Given the description of an element on the screen output the (x, y) to click on. 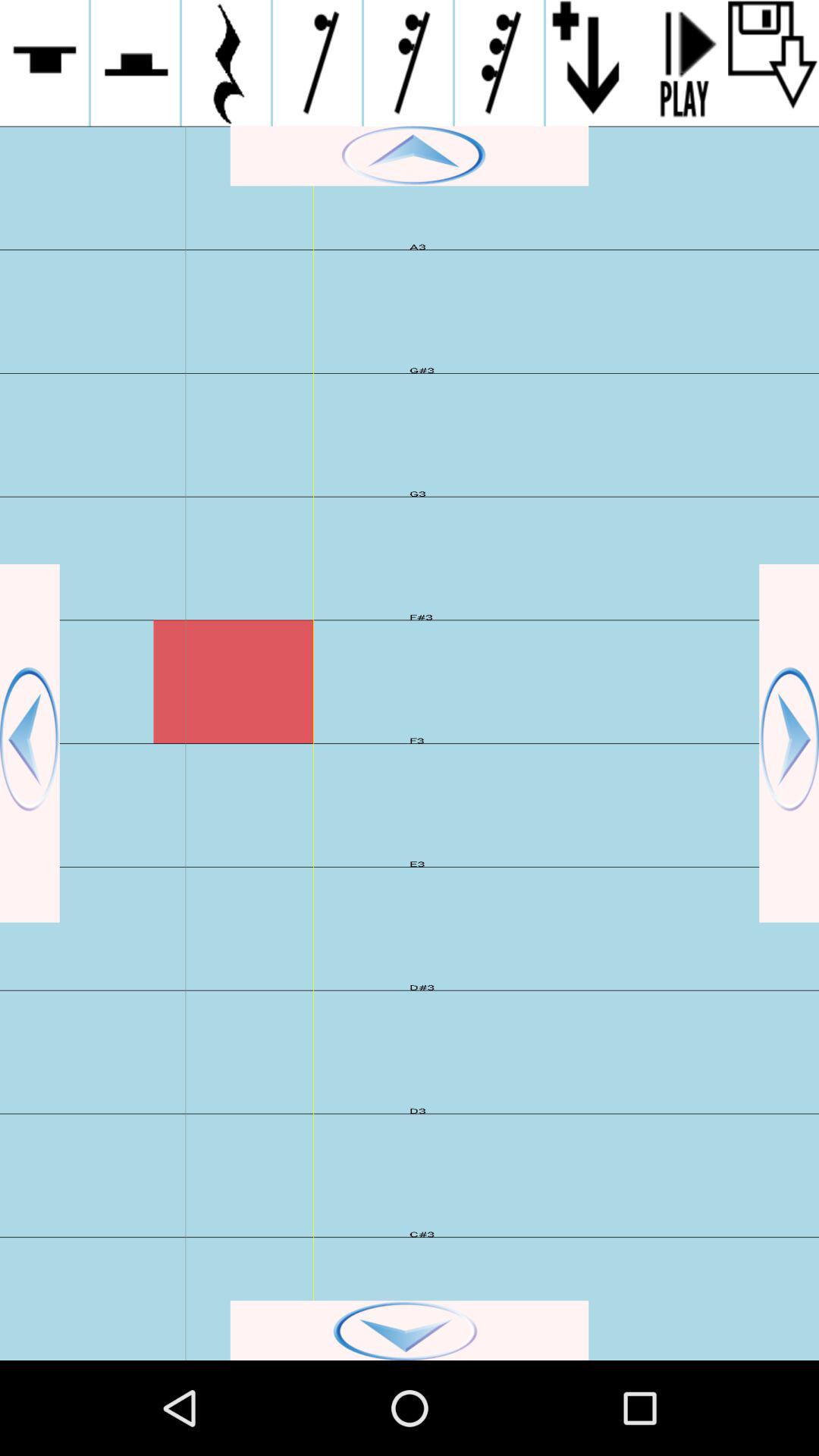
go down (409, 1330)
